Given the description of an element on the screen output the (x, y) to click on. 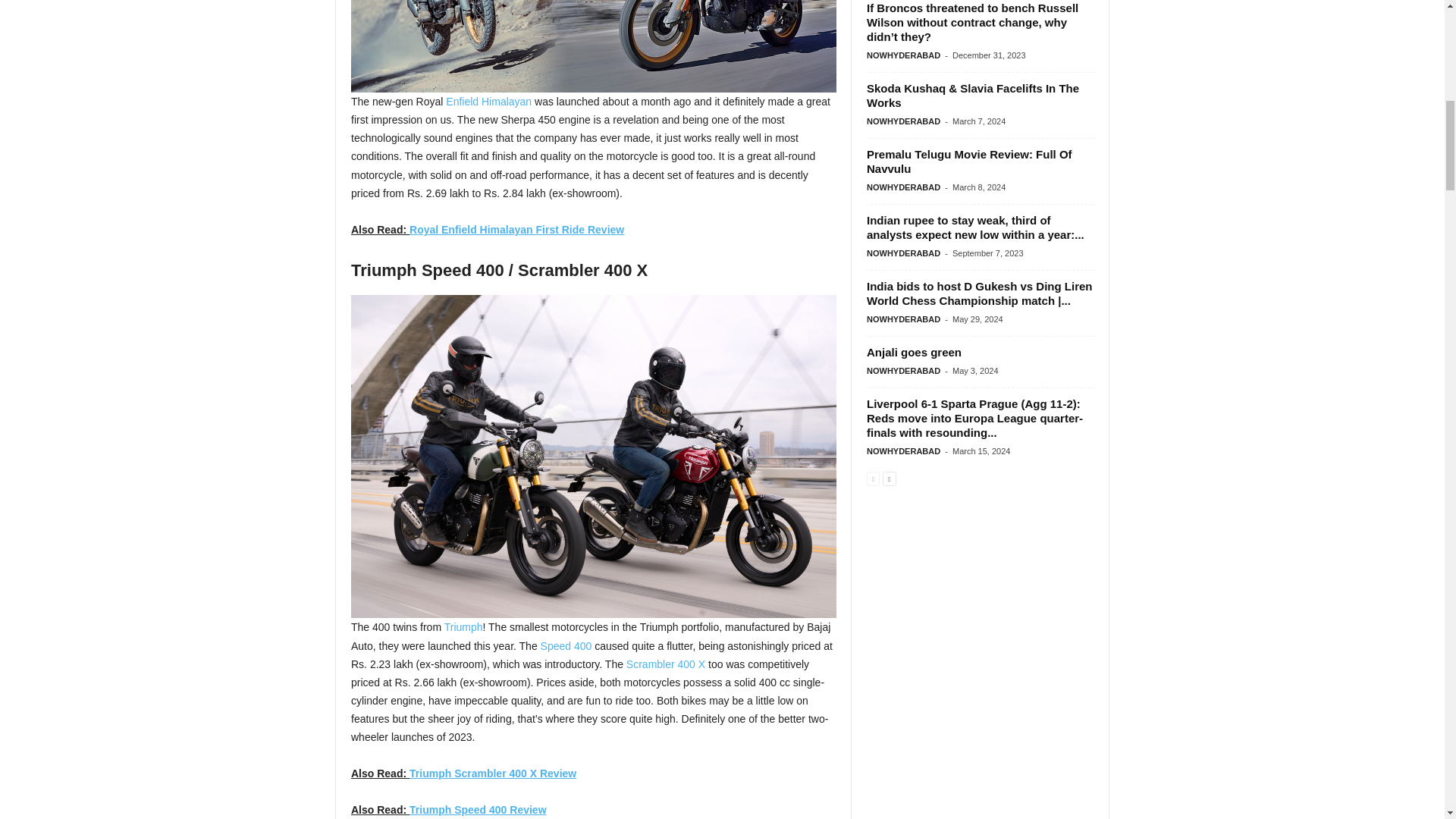
Triumph Scrambler 400 X Review (492, 773)
Scrambler 400 X (665, 664)
Speed 400 (566, 645)
Royal Enfield Himalayan First Ride Review (516, 229)
Enfield Himalayan (488, 101)
Triumph (463, 626)
Triumph Speed 400 Review (478, 809)
Top 10 Motorcycle Launches Of 2023 (592, 46)
